Given the description of an element on the screen output the (x, y) to click on. 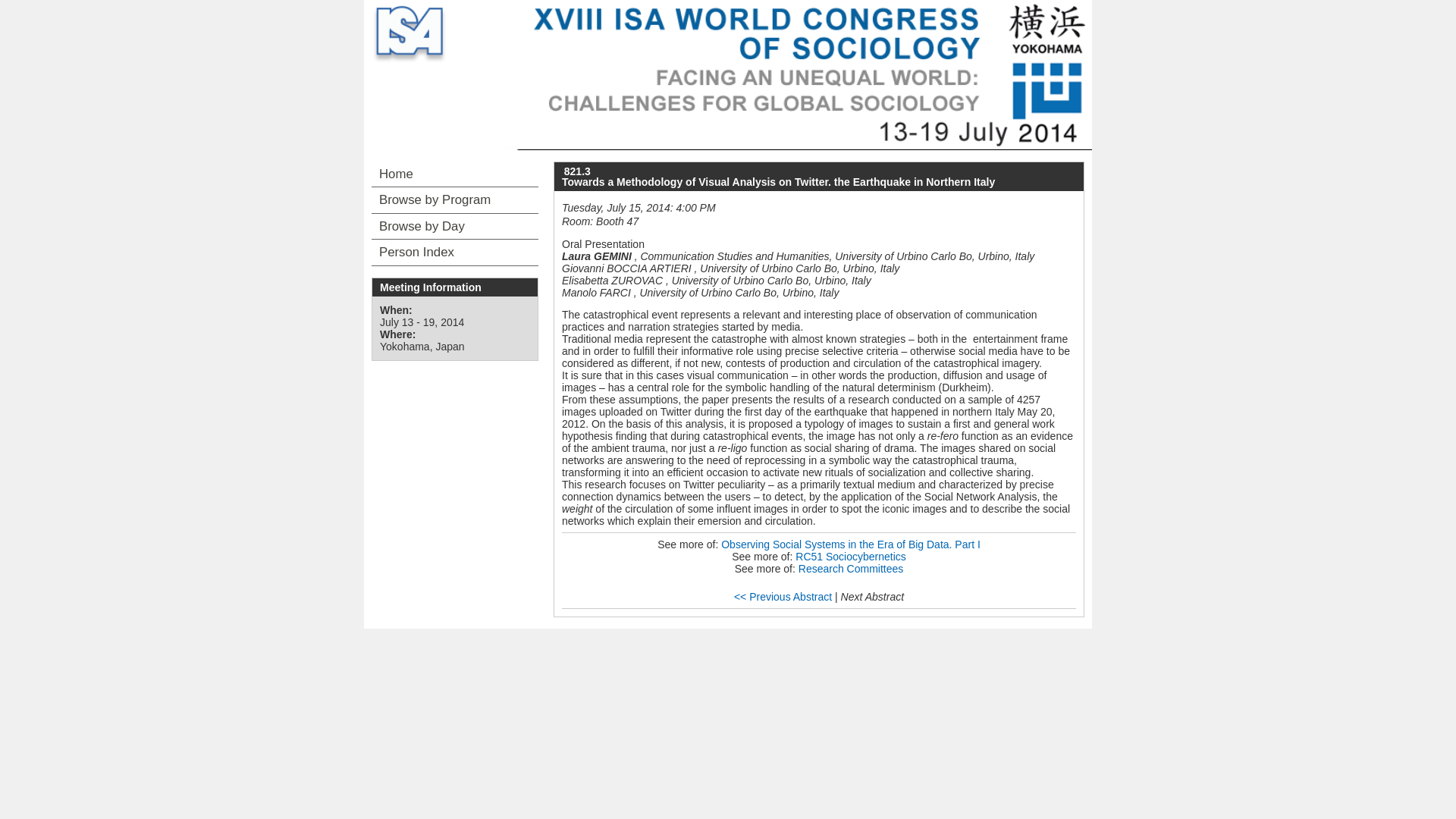
Research Committees (850, 568)
RC51 Sociocybernetics (849, 556)
Browse by Day (454, 226)
Person Index (454, 252)
Home (454, 174)
Observing Social Systems in the Era of Big Data. Part I (849, 544)
Browse by Program (454, 199)
